Given the description of an element on the screen output the (x, y) to click on. 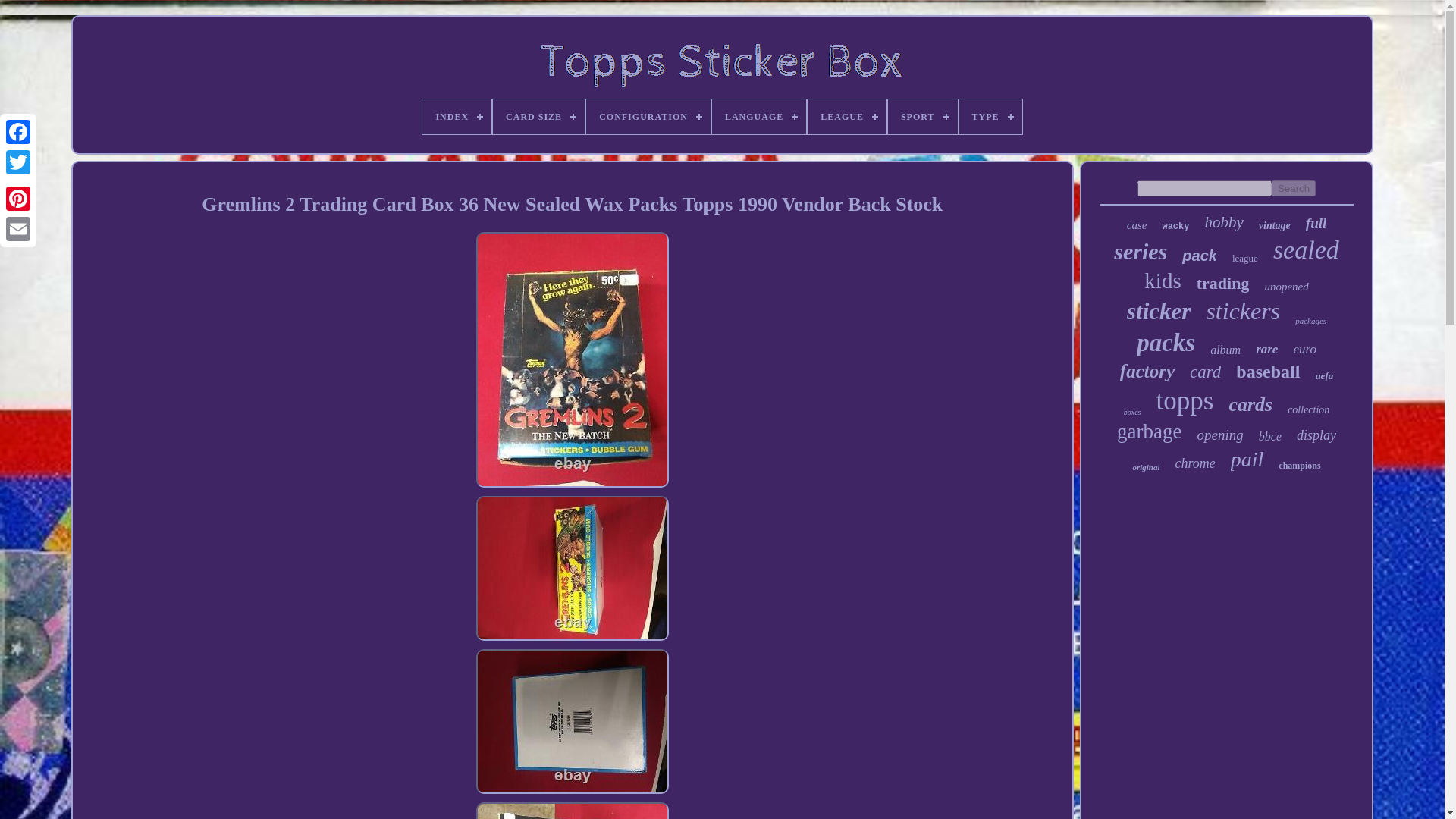
LEAGUE (847, 116)
Search (1293, 188)
INDEX (457, 116)
CARD SIZE (539, 116)
LANGUAGE (758, 116)
CONFIGURATION (648, 116)
